Given the description of an element on the screen output the (x, y) to click on. 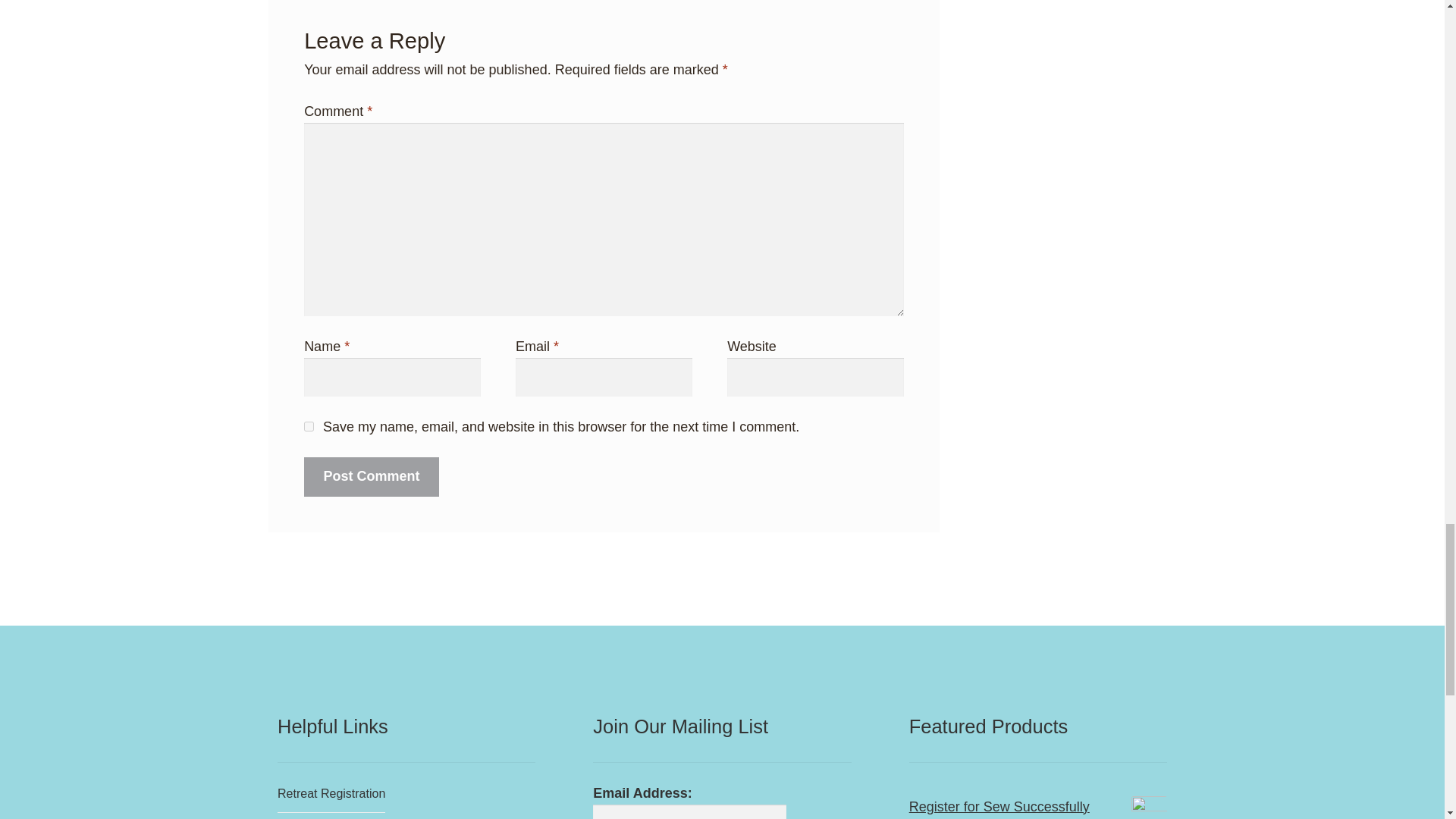
Post Comment (371, 476)
yes (309, 426)
